Given the description of an element on the screen output the (x, y) to click on. 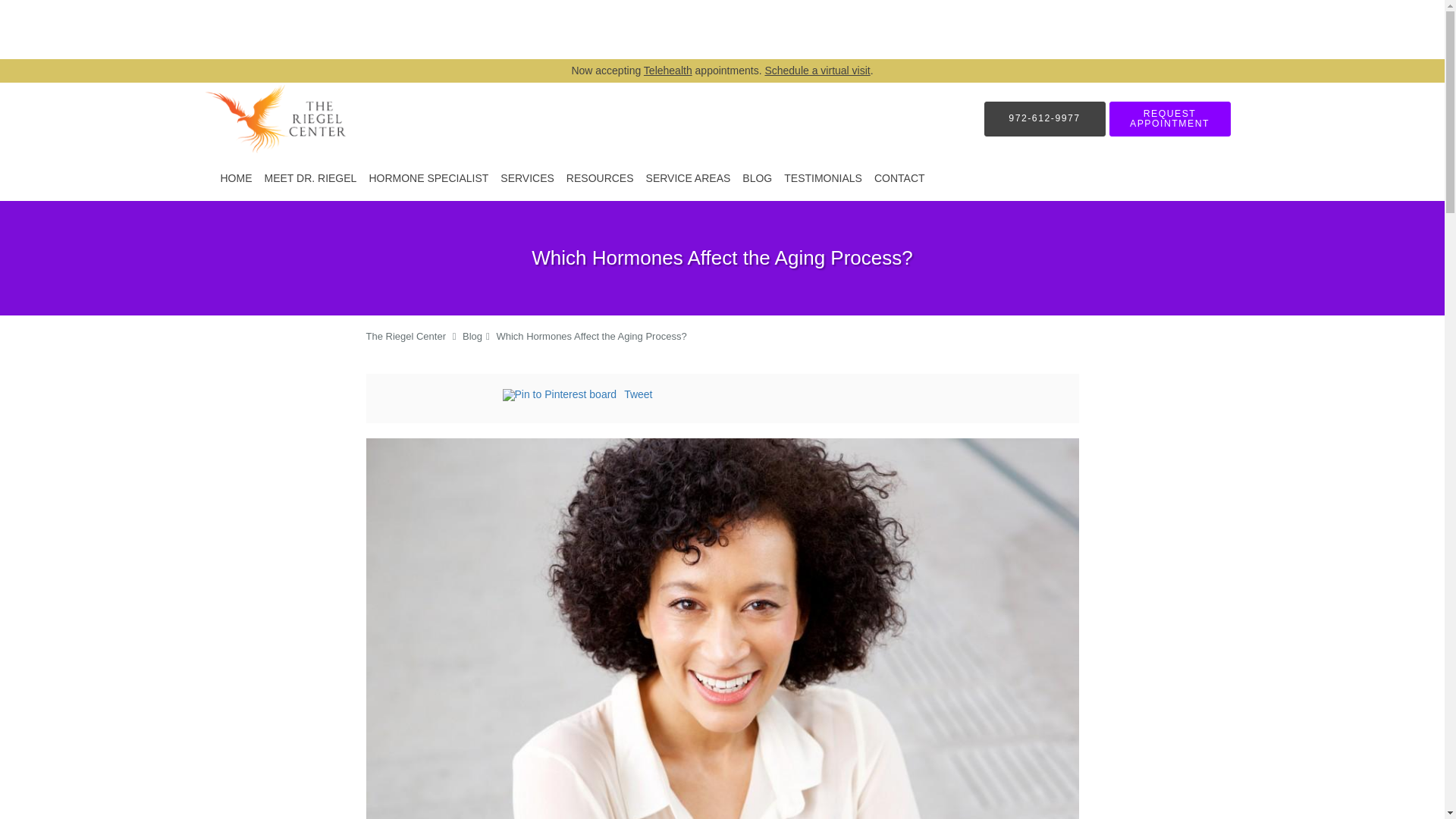
Blog (472, 336)
Schedule a virtual visit (816, 70)
Telehealth (668, 70)
CONTACT (899, 177)
Facebook social button (441, 396)
REQUEST APPOINTMENT (1169, 118)
The Riegel Center (405, 336)
TESTIMONIALS (822, 177)
MEET DR. RIEGEL (309, 177)
Which Hormones Affect the Aging Process? (590, 336)
